Given the description of an element on the screen output the (x, y) to click on. 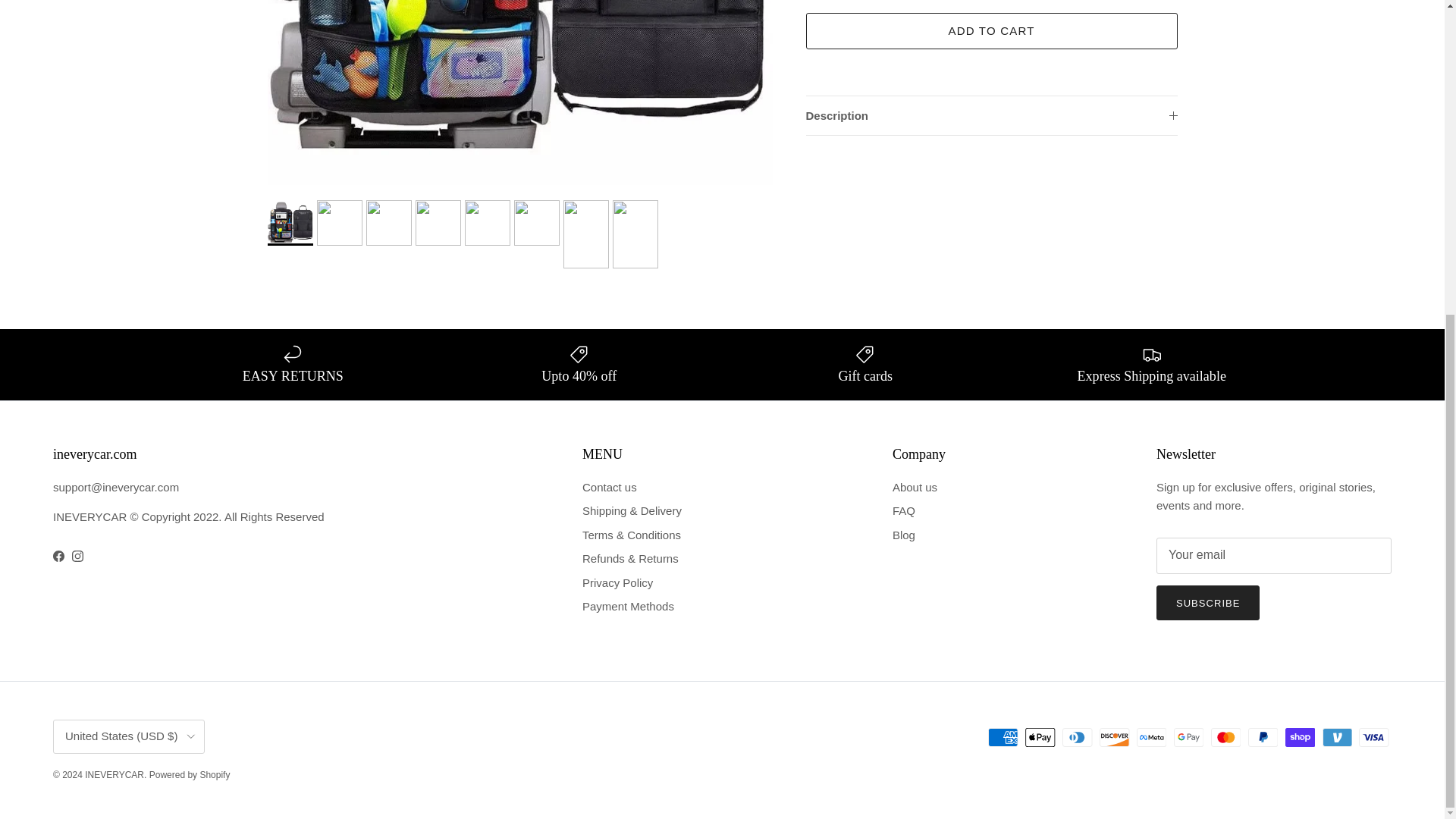
INEVERYCAR on Facebook (58, 555)
Mastercard (1225, 737)
Meta Pay (1151, 737)
Discover (1114, 737)
INEVERYCAR on Instagram (76, 555)
Apple Pay (1040, 737)
Google Pay (1188, 737)
American Express (1002, 737)
Diners Club (1077, 737)
